Given the description of an element on the screen output the (x, y) to click on. 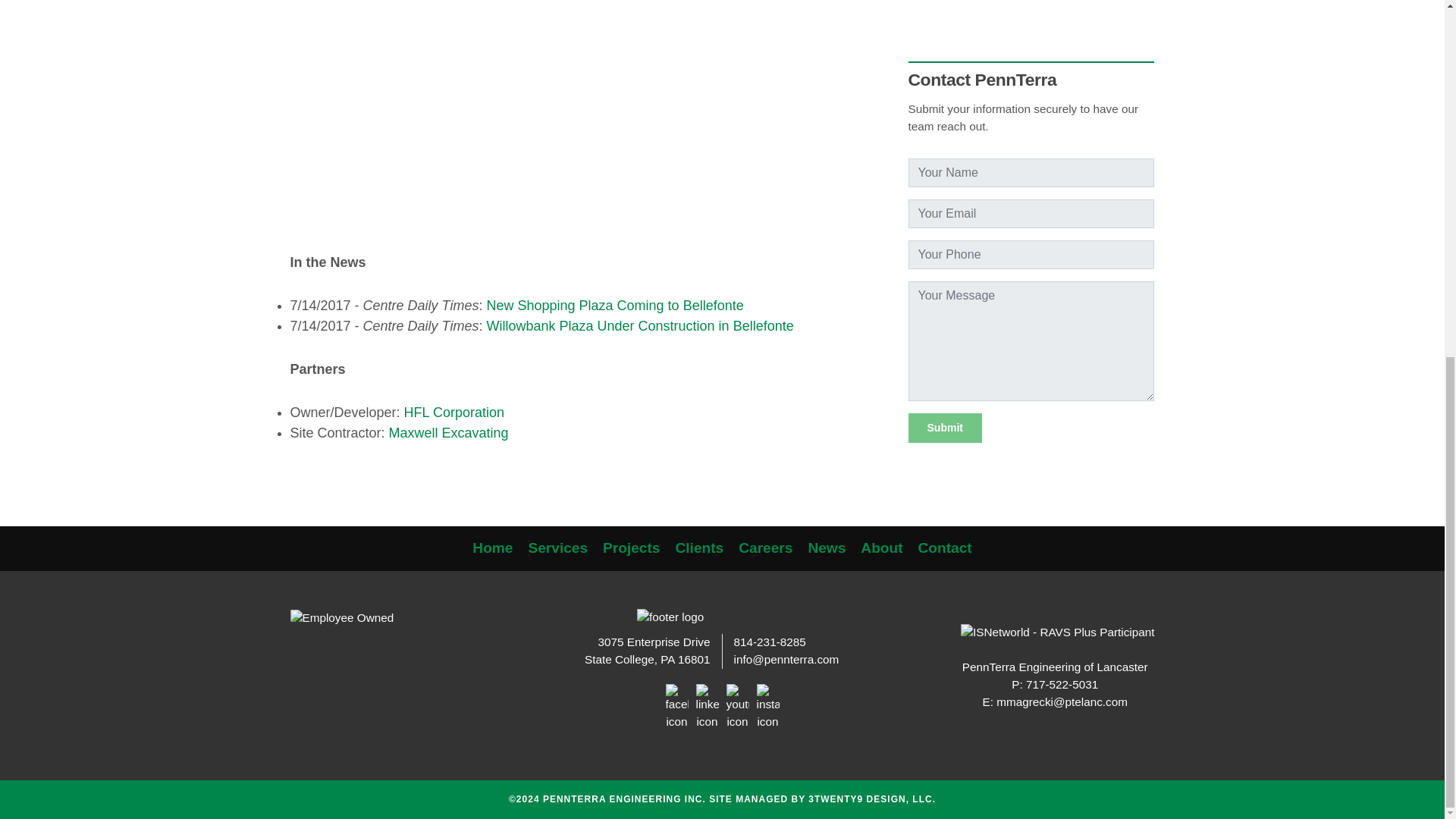
717-522-5031 (1061, 684)
New Shopping Plaza Coming to Bellefonte (614, 305)
3TWENTY9 DESIGN, LLC. (872, 798)
Contact (945, 547)
HFL Corporation (453, 412)
Services (557, 547)
Clients (699, 547)
News (826, 547)
814-231-8285 (769, 641)
About (881, 547)
